Given the description of an element on the screen output the (x, y) to click on. 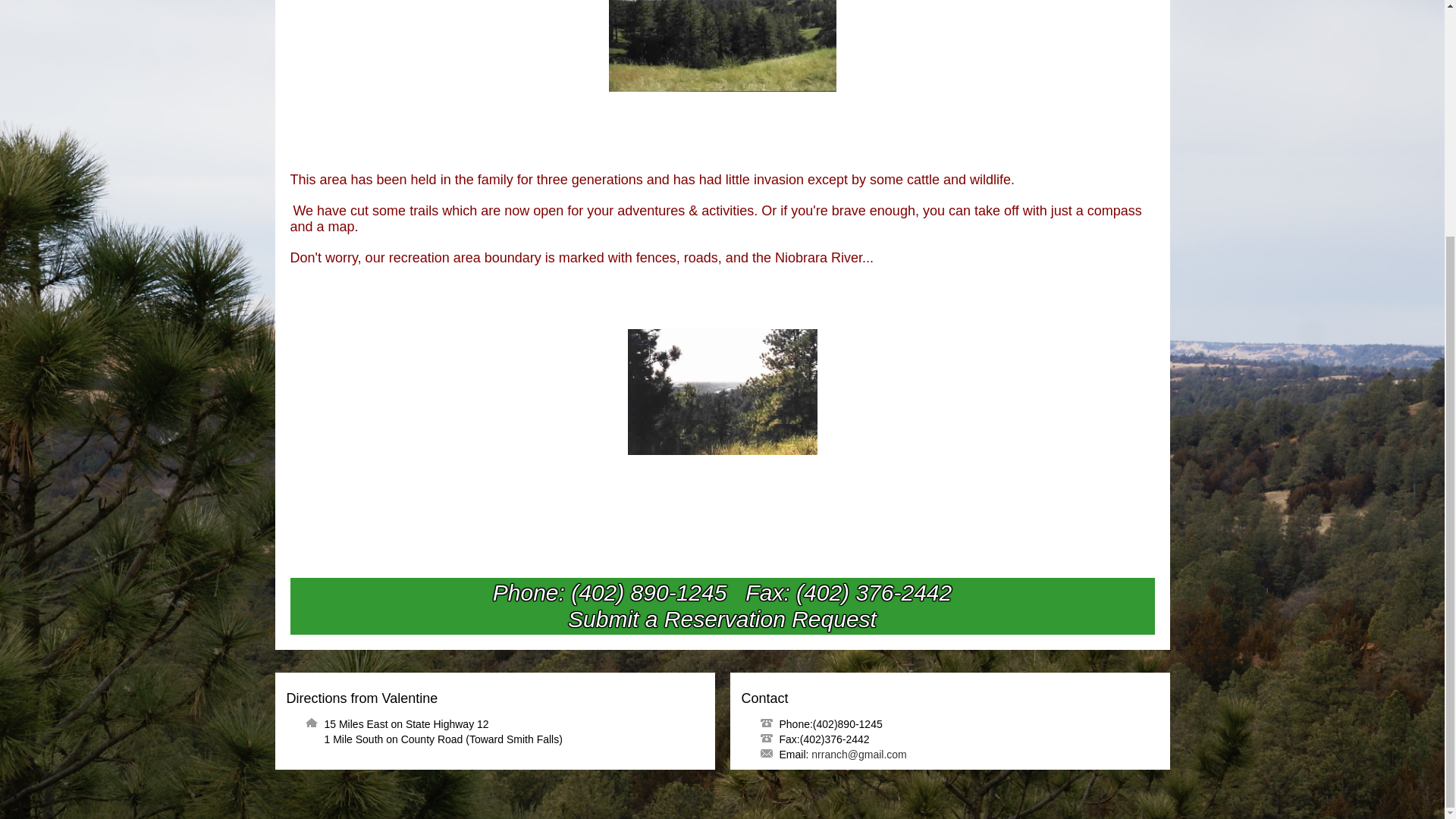
Submit a Reservation Request (721, 618)
